Given the description of an element on the screen output the (x, y) to click on. 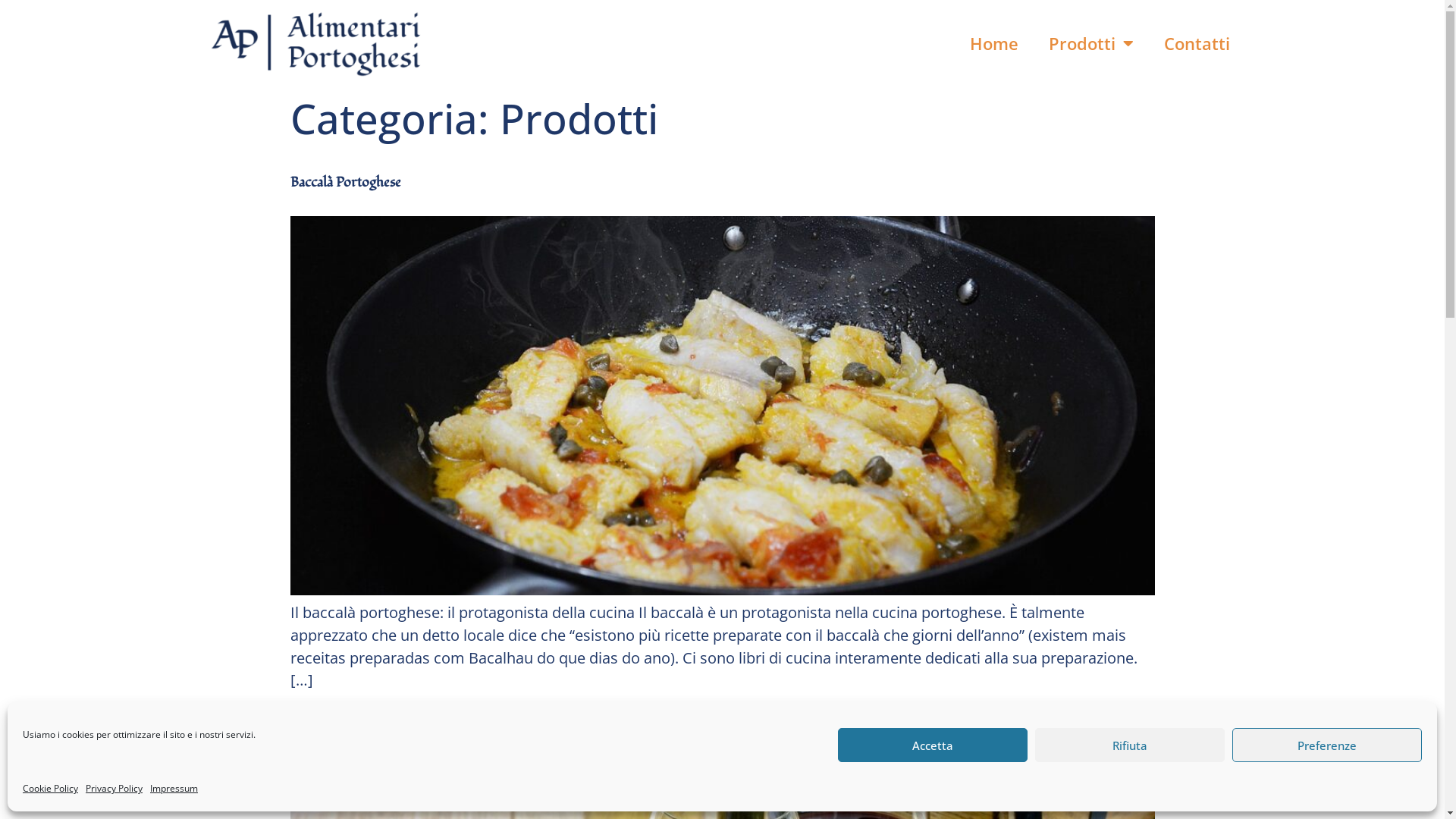
Cookie Policy Element type: text (50, 788)
Home Element type: text (993, 43)
Impressum Element type: text (173, 788)
Prodotti Element type: text (1090, 43)
Preferenze Element type: text (1326, 745)
cropped-portoghesi-logo.png Element type: hover (313, 43)
Accetta Element type: text (932, 745)
Privacy Policy Element type: text (113, 788)
Rifiuta Element type: text (1129, 745)
Vini Portoghesi Element type: text (334, 728)
Contatti Element type: text (1196, 43)
